Given the description of an element on the screen output the (x, y) to click on. 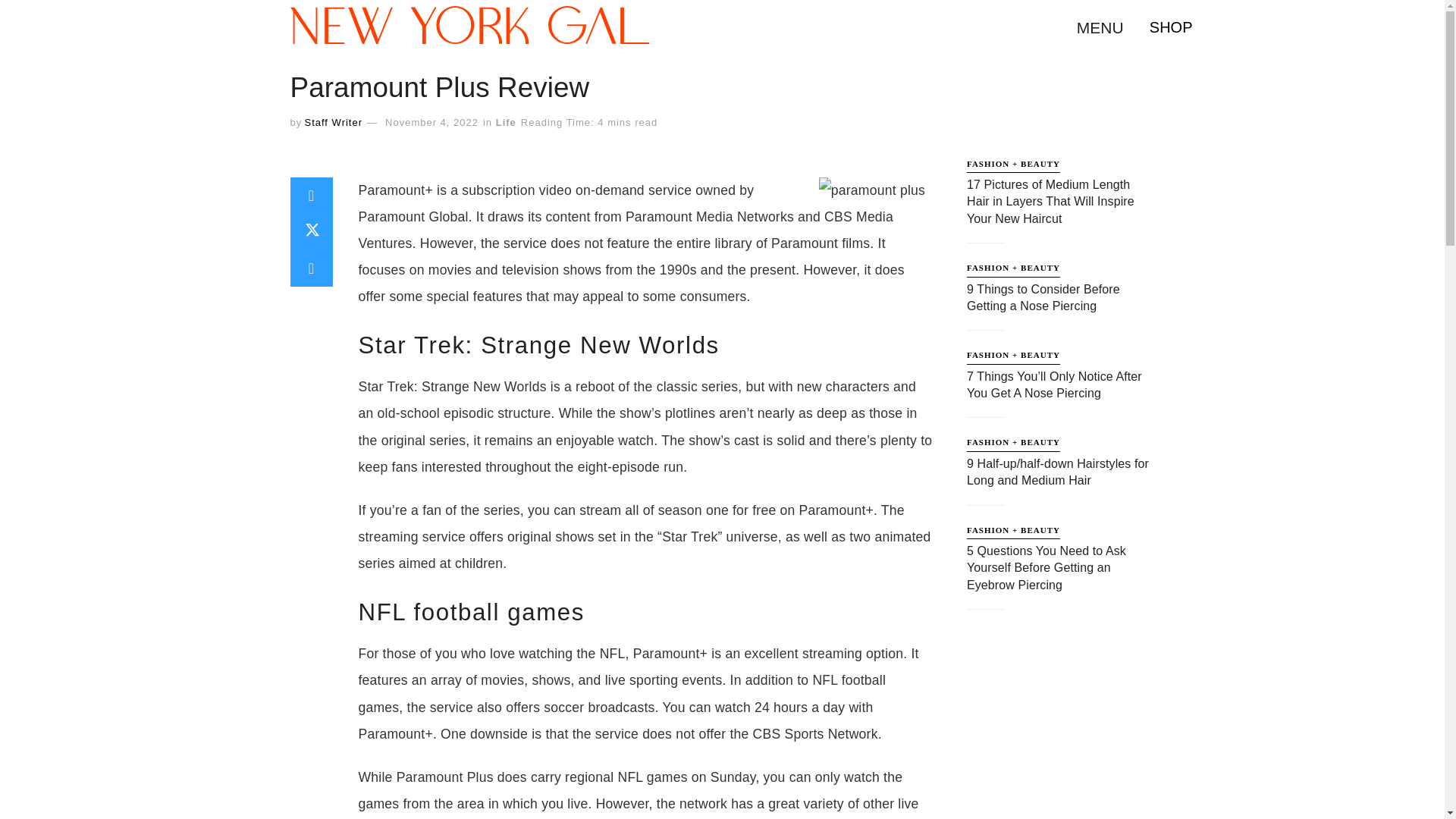
November 4, 2022 (432, 122)
9 Things to Consider Before Getting a Nose Piercing (1042, 297)
SHOP (1171, 27)
Life (506, 122)
Staff Writer (333, 122)
